Given the description of an element on the screen output the (x, y) to click on. 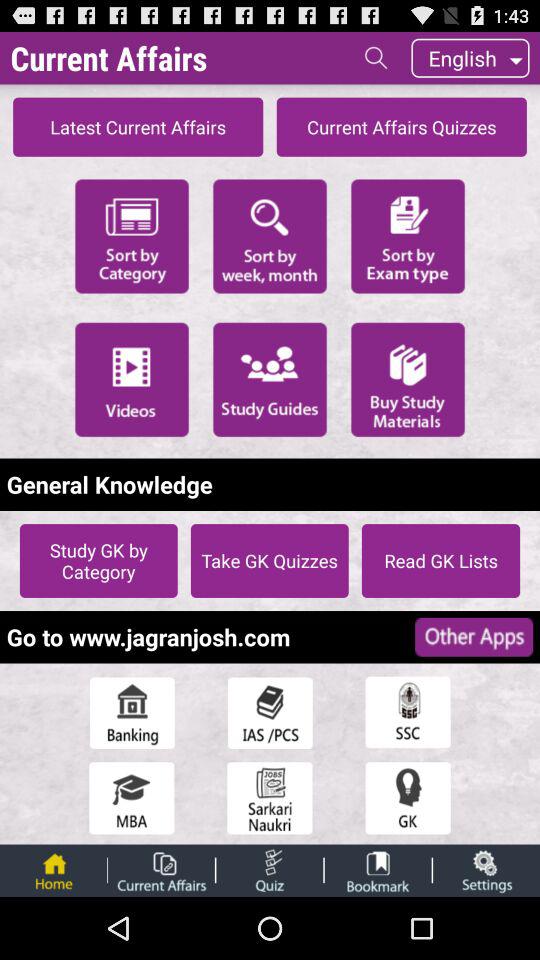
select the ias/pcs option (269, 712)
